Given the description of an element on the screen output the (x, y) to click on. 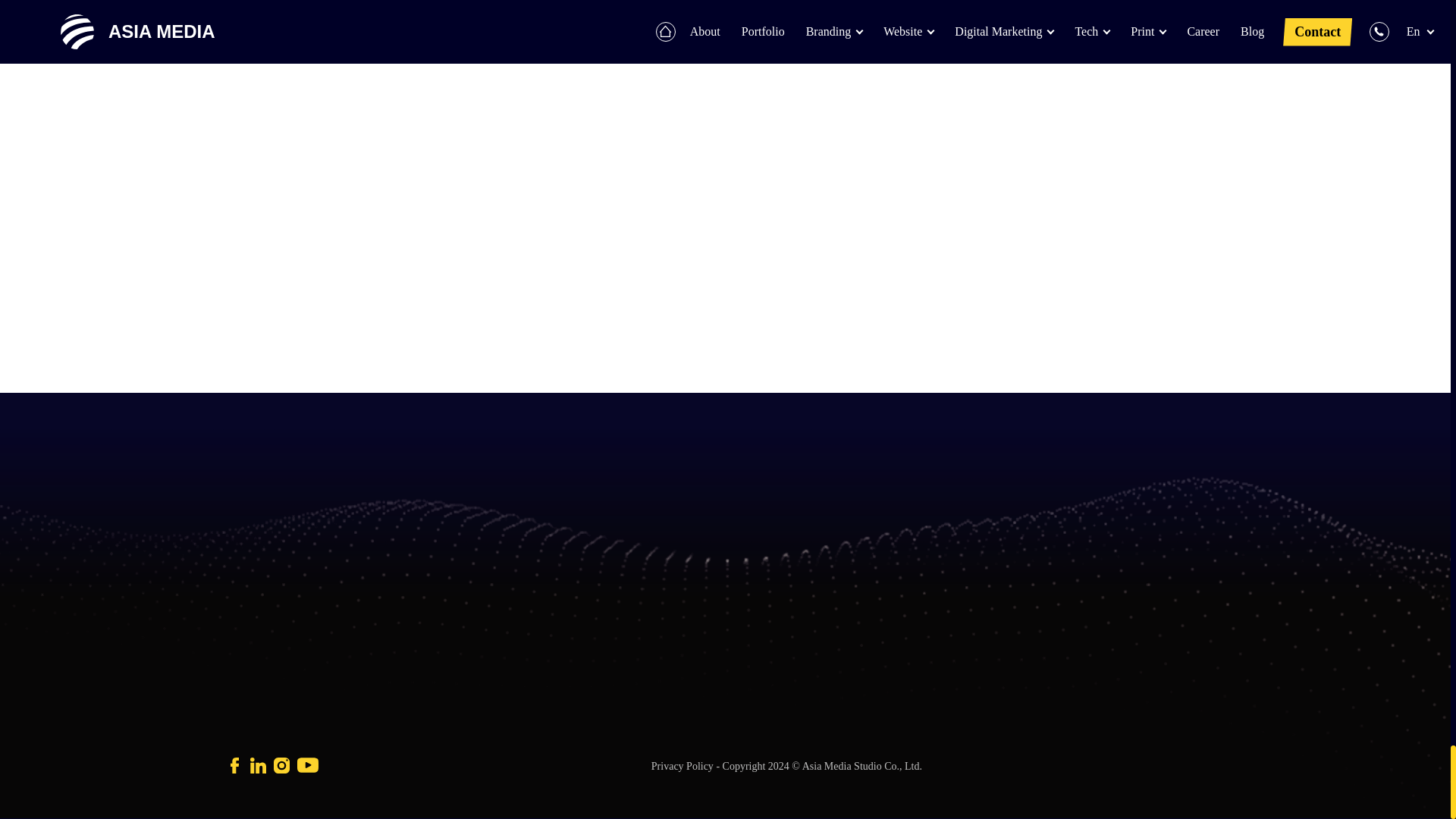
Privacy Policy   (683, 766)
